Given the description of an element on the screen output the (x, y) to click on. 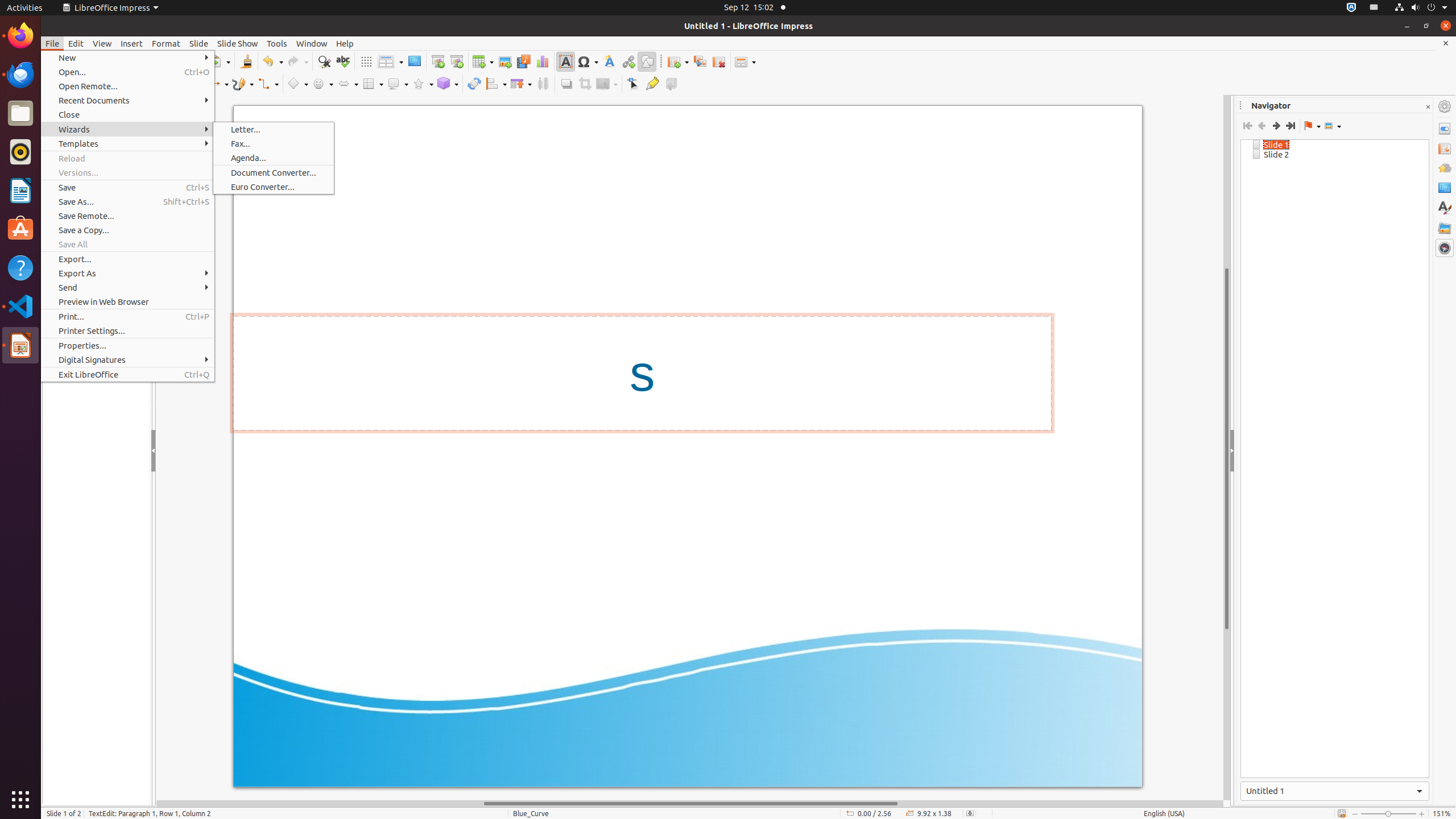
Save As... Element type: menu-item (127, 201)
Edit Element type: menu (75, 43)
Close Element type: menu-item (127, 114)
Letter... Element type: menu-item (273, 129)
Navigator Element type: radio-button (1444, 247)
